Given the description of an element on the screen output the (x, y) to click on. 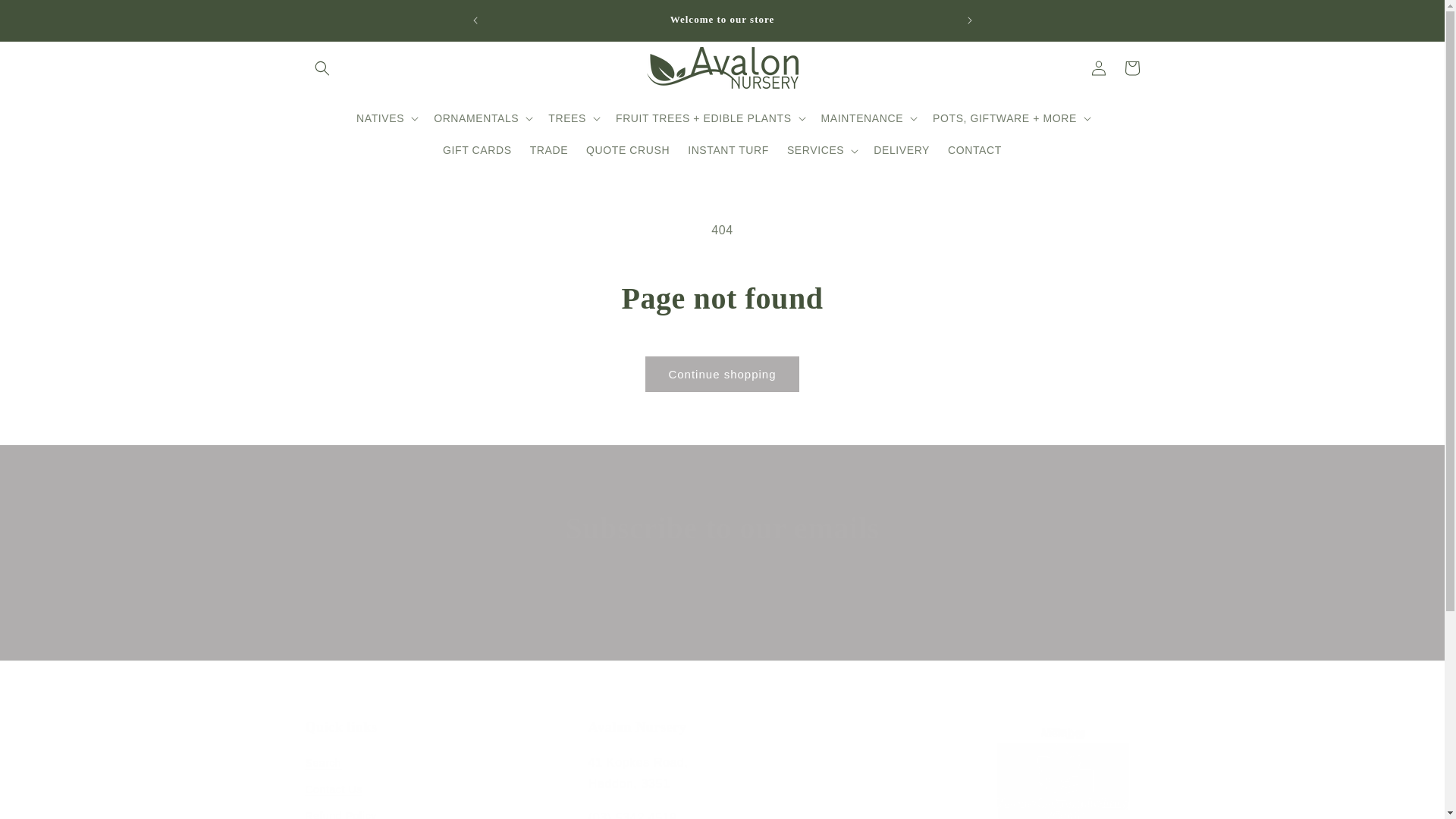
Skip to content (45, 17)
Email (722, 618)
Subscribe to our emails (721, 527)
